Given the description of an element on the screen output the (x, y) to click on. 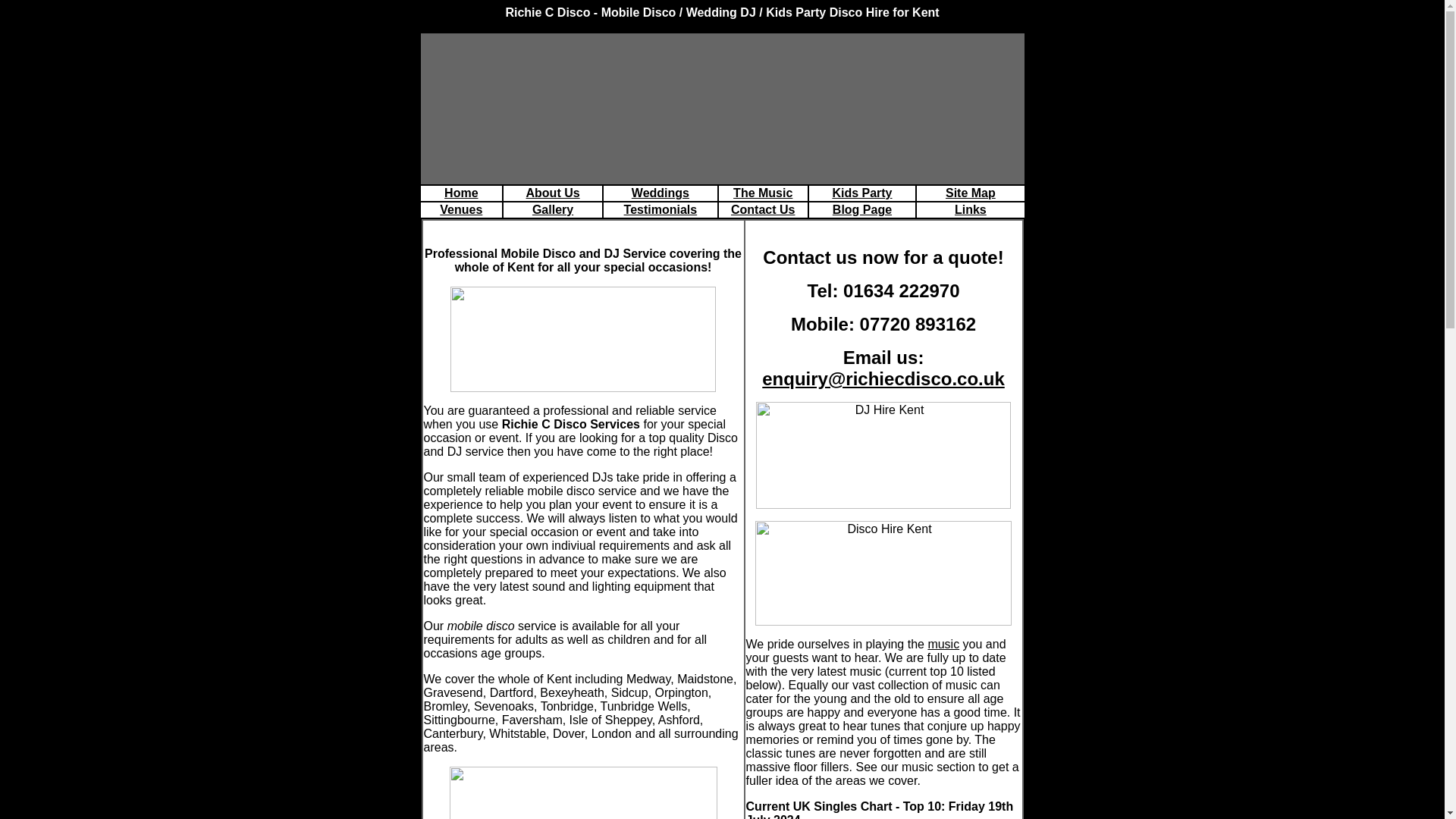
Contact Us (762, 209)
Testimonials (660, 209)
Venues (460, 209)
Site Map (969, 192)
Home (460, 192)
About Us (552, 192)
The Music (762, 192)
Links (971, 209)
Weddings (659, 192)
Blog Page (861, 209)
Kids Party (861, 192)
music (943, 644)
Gallery (552, 209)
